Given the description of an element on the screen output the (x, y) to click on. 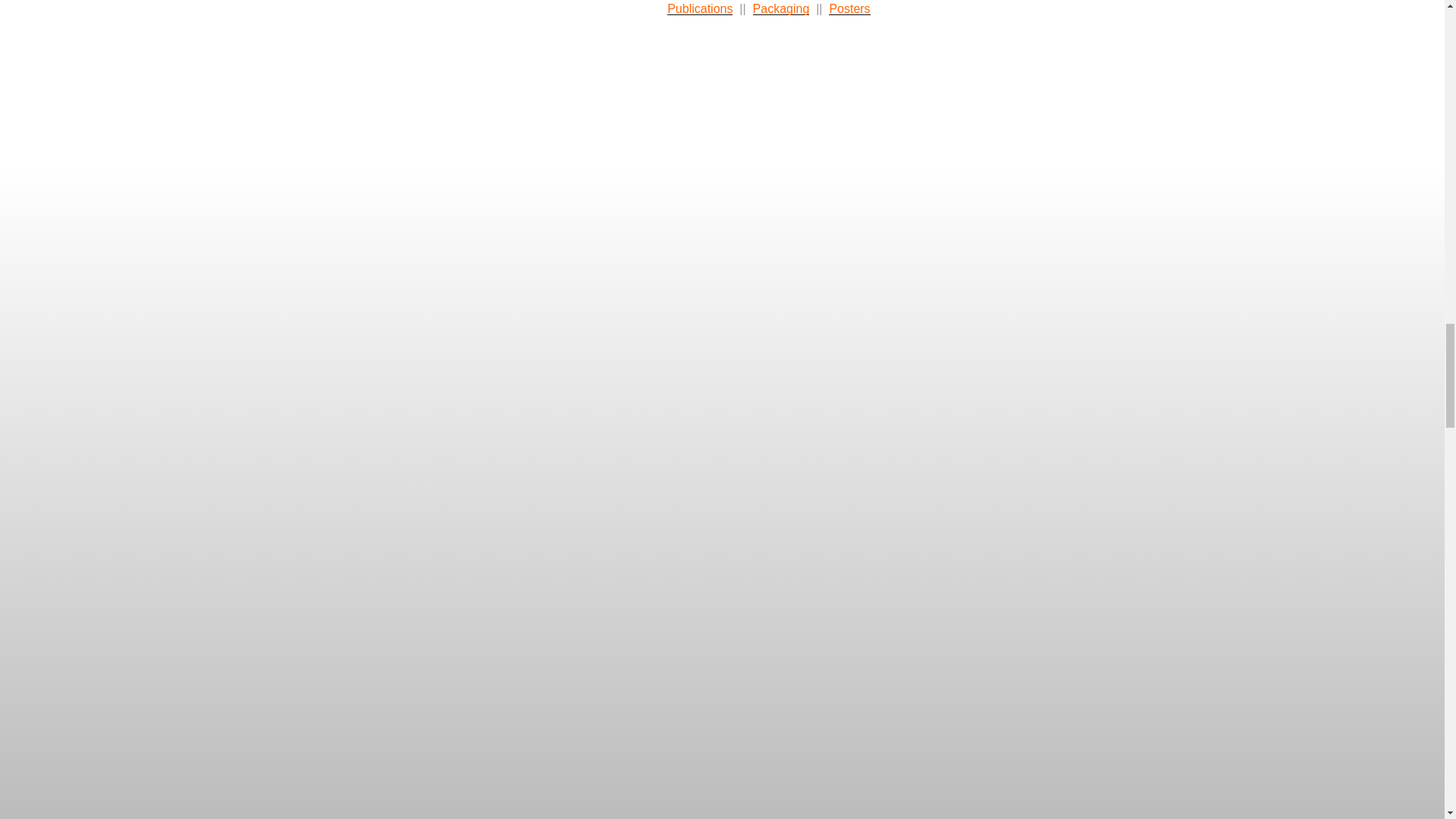
Posters (848, 8)
Publications (699, 8)
Packaging (780, 8)
